Given the description of an element on the screen output the (x, y) to click on. 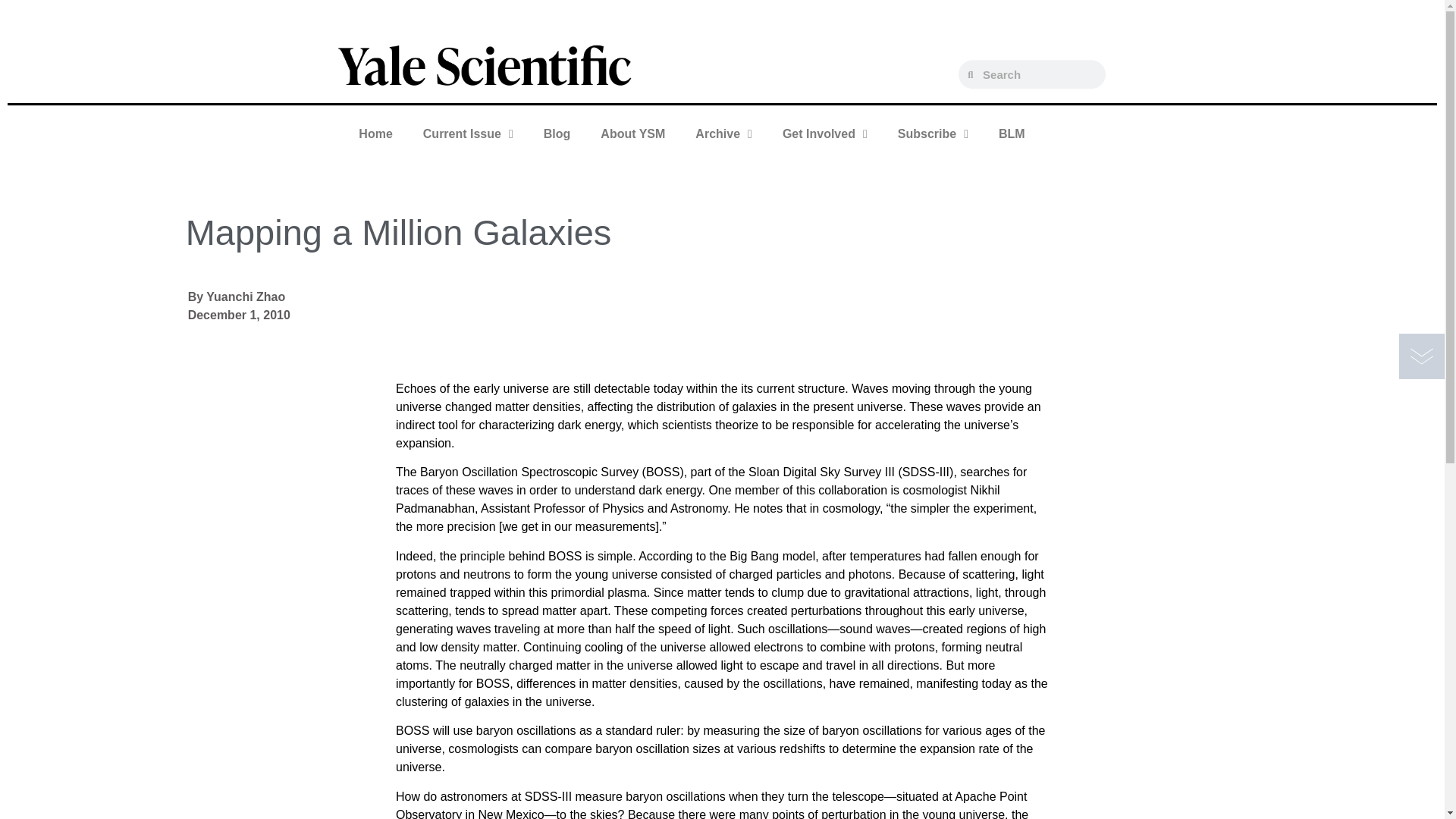
About YSM (632, 134)
Blog (557, 134)
Get Involved (824, 134)
Subscribe (933, 134)
Current Issue (467, 134)
Archive (723, 134)
cropped-YSM-Wordmark-Only-Black-High-Res.png (484, 64)
Home (375, 134)
BLM (1012, 134)
